Given the description of an element on the screen output the (x, y) to click on. 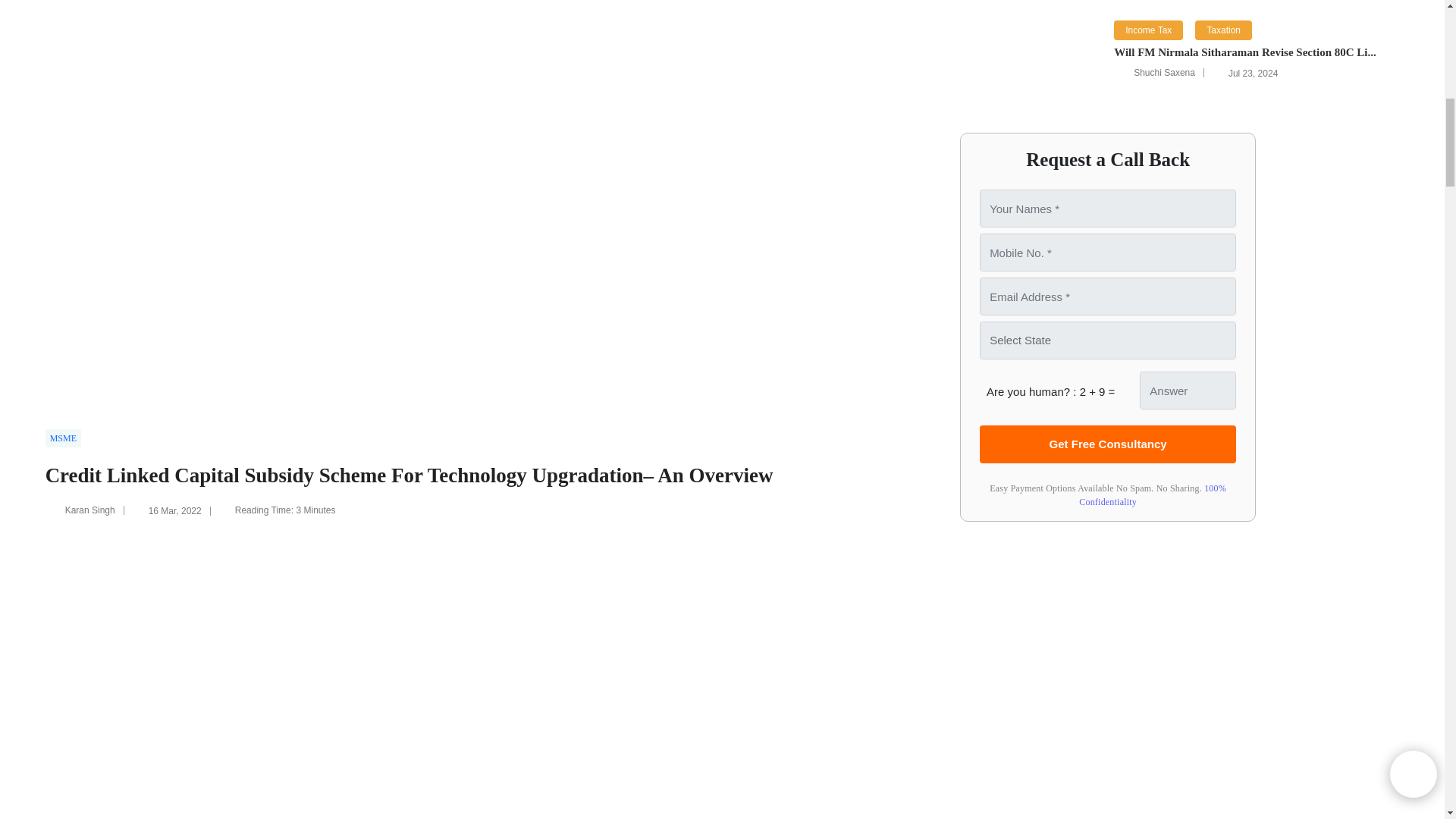
Get Free Consultancy (1107, 444)
Posts by Karan Singh (90, 510)
